Given the description of an element on the screen output the (x, y) to click on. 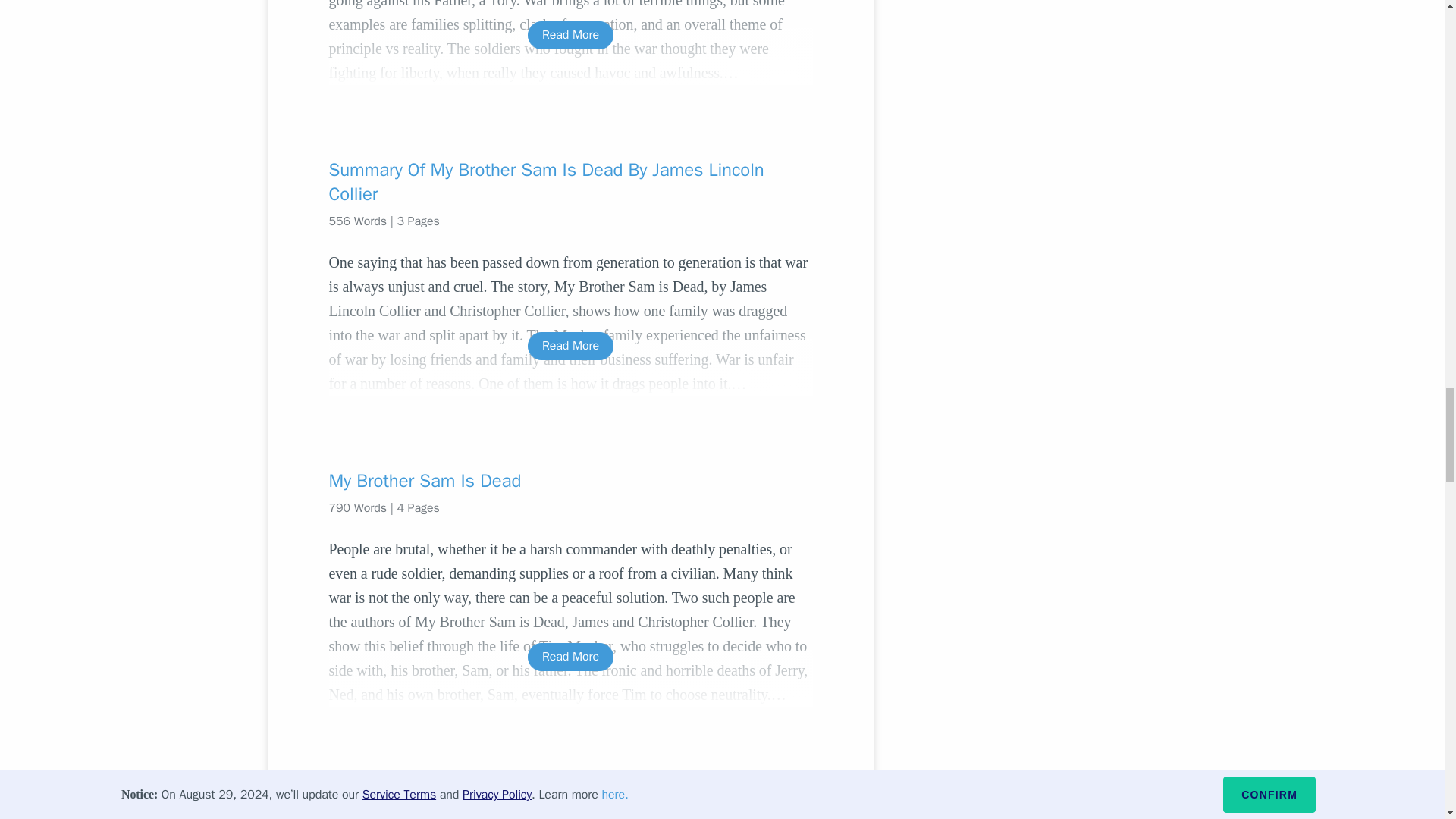
Read More (569, 35)
Read More (569, 656)
My Brother Sam Is Dead Essay (570, 791)
My Brother Sam Is Dead (570, 480)
Summary Of My Brother Sam Is Dead By James Lincoln Collier (570, 182)
Read More (569, 346)
